Given the description of an element on the screen output the (x, y) to click on. 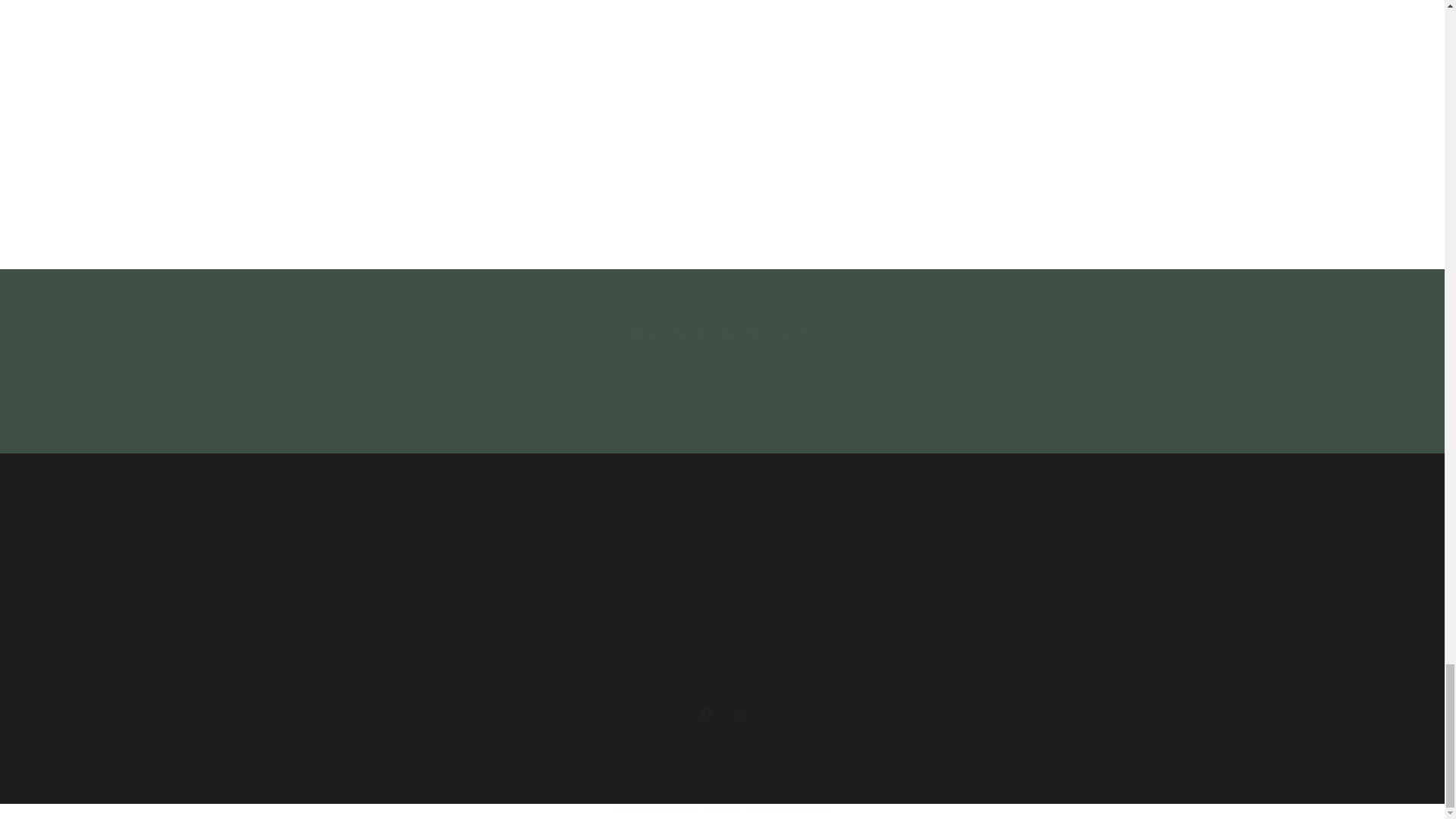
Usage tips (180, 596)
Email (722, 414)
Nos collections (191, 542)
Subscribe to our Newsletter (721, 332)
Notre histoire (187, 517)
News (166, 569)
Privacy Policy (721, 713)
